Given the description of an element on the screen output the (x, y) to click on. 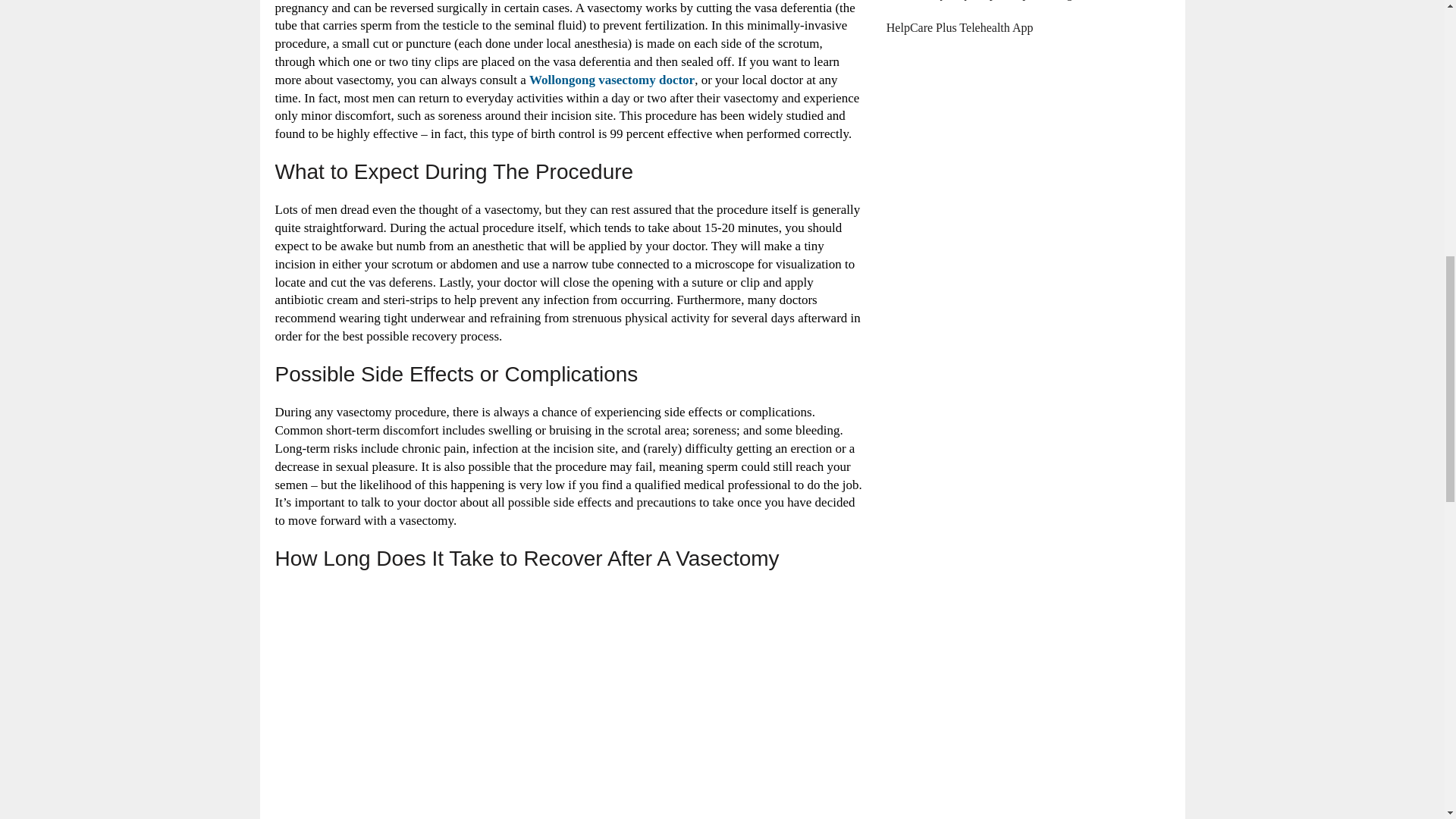
Wollongong vasectomy doctor (611, 79)
HelpCare Plus Telehealth App (959, 27)
